Given the description of an element on the screen output the (x, y) to click on. 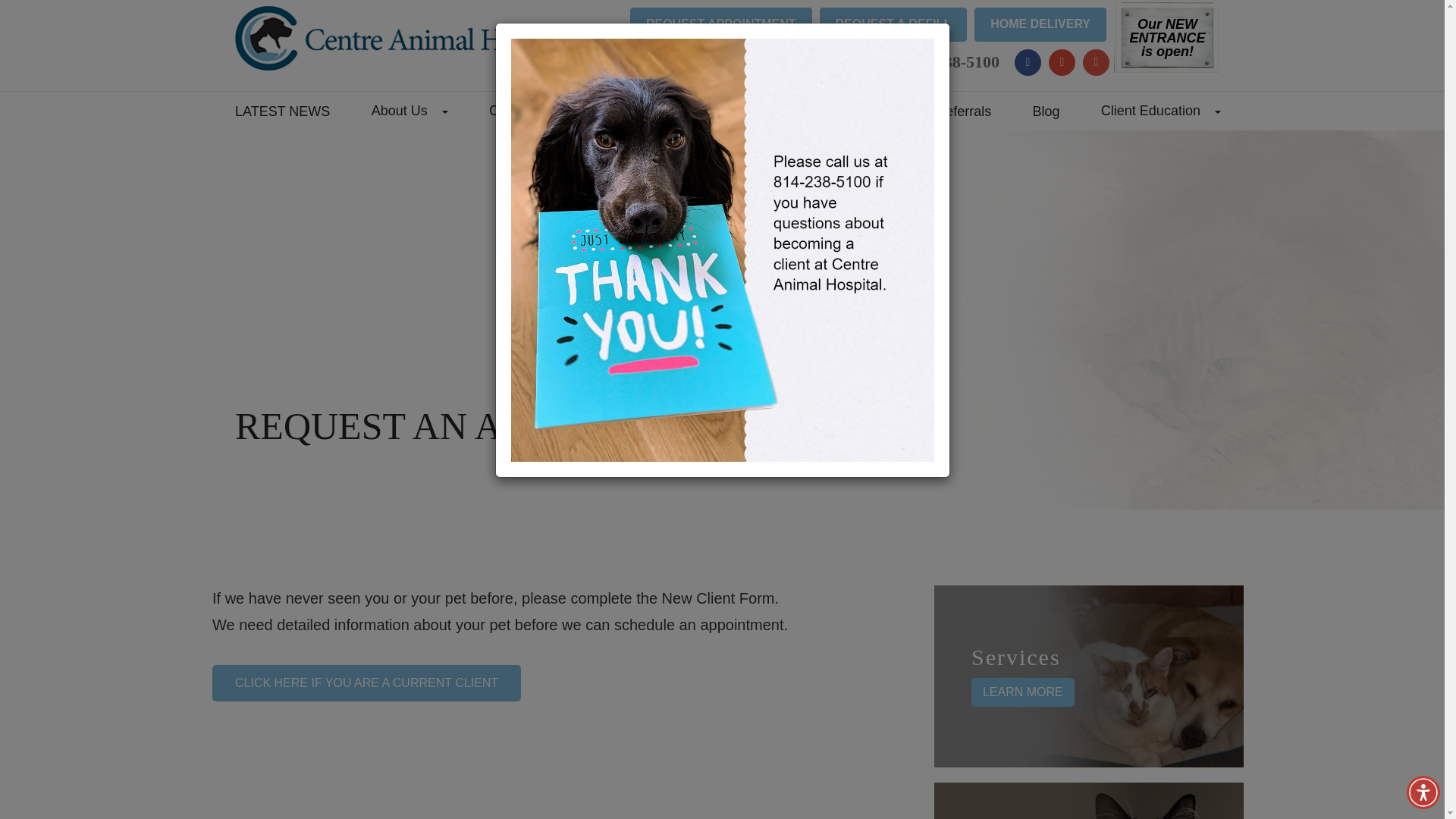
Accessibility Menu (1422, 792)
